Given the description of an element on the screen output the (x, y) to click on. 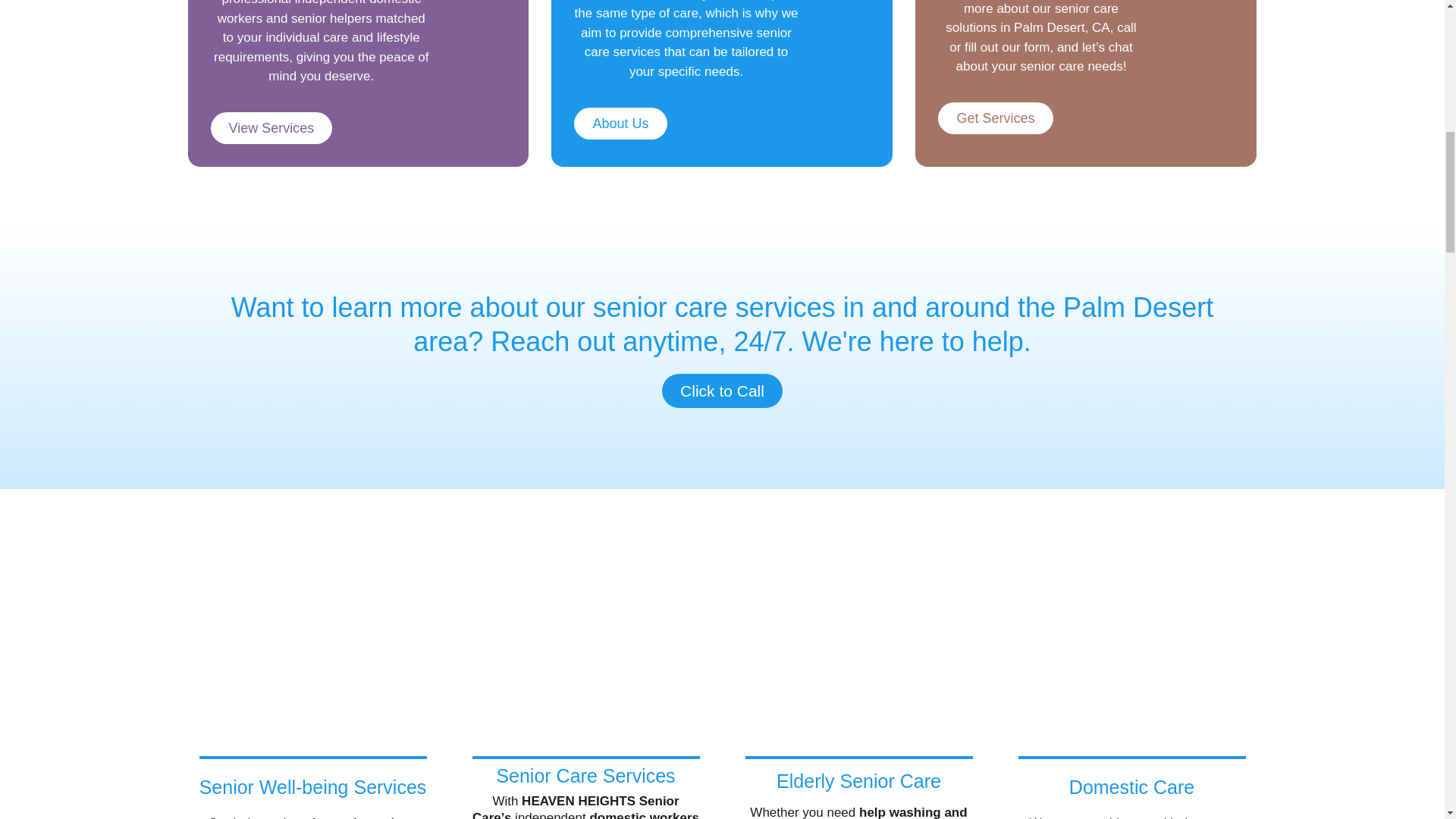
Get Services (994, 118)
Elderly Senior Care (858, 780)
Senior Care Services (585, 775)
View Services (272, 128)
Senior Well-being Services (312, 786)
About Us (619, 123)
Click to Call (722, 390)
